Given the description of an element on the screen output the (x, y) to click on. 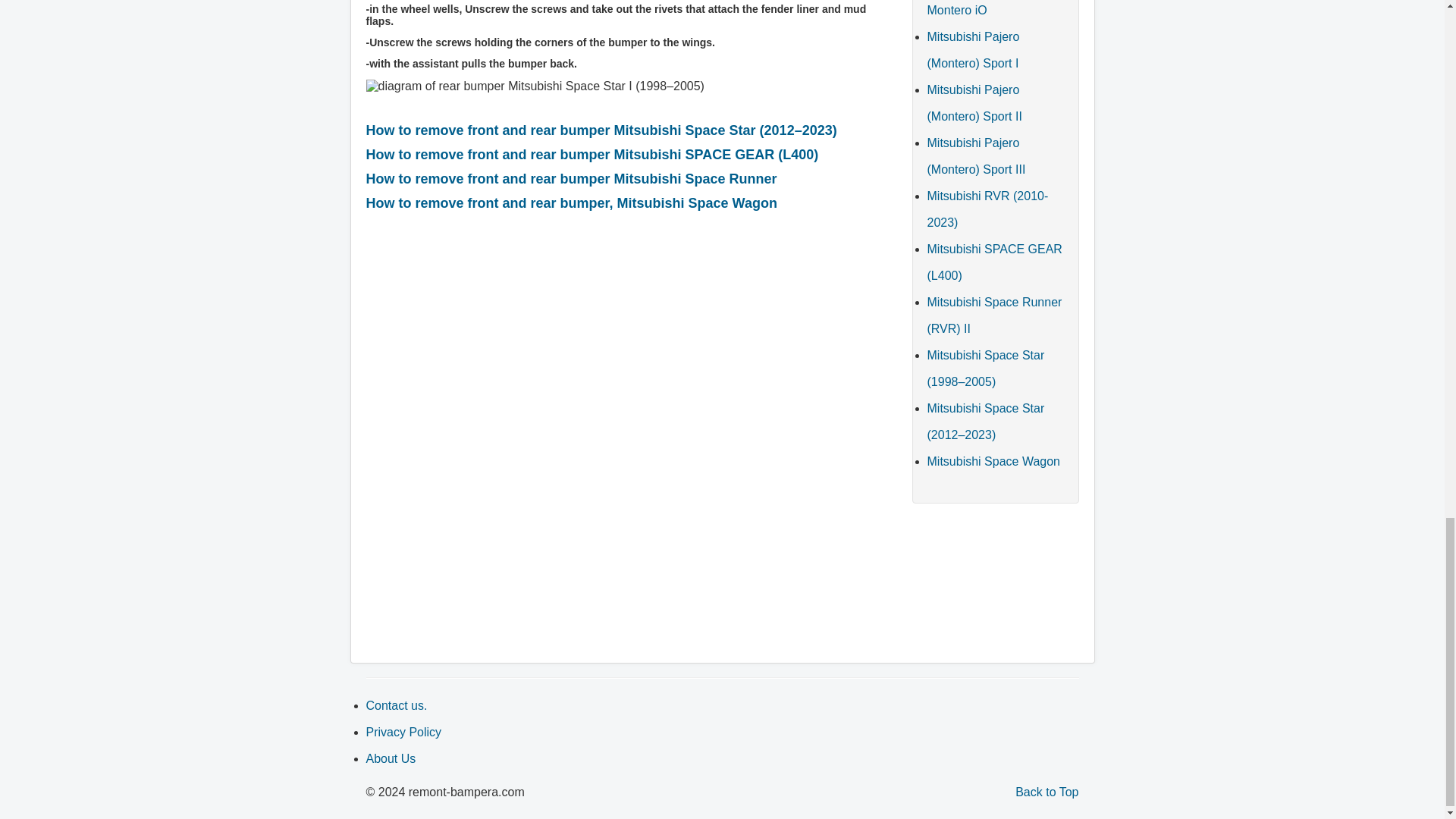
How to remove front and rear bumper Mitsubishi Space Runner (570, 178)
How to remove front and rear bumper, Mitsubishi Space Wagon (570, 202)
